Given the description of an element on the screen output the (x, y) to click on. 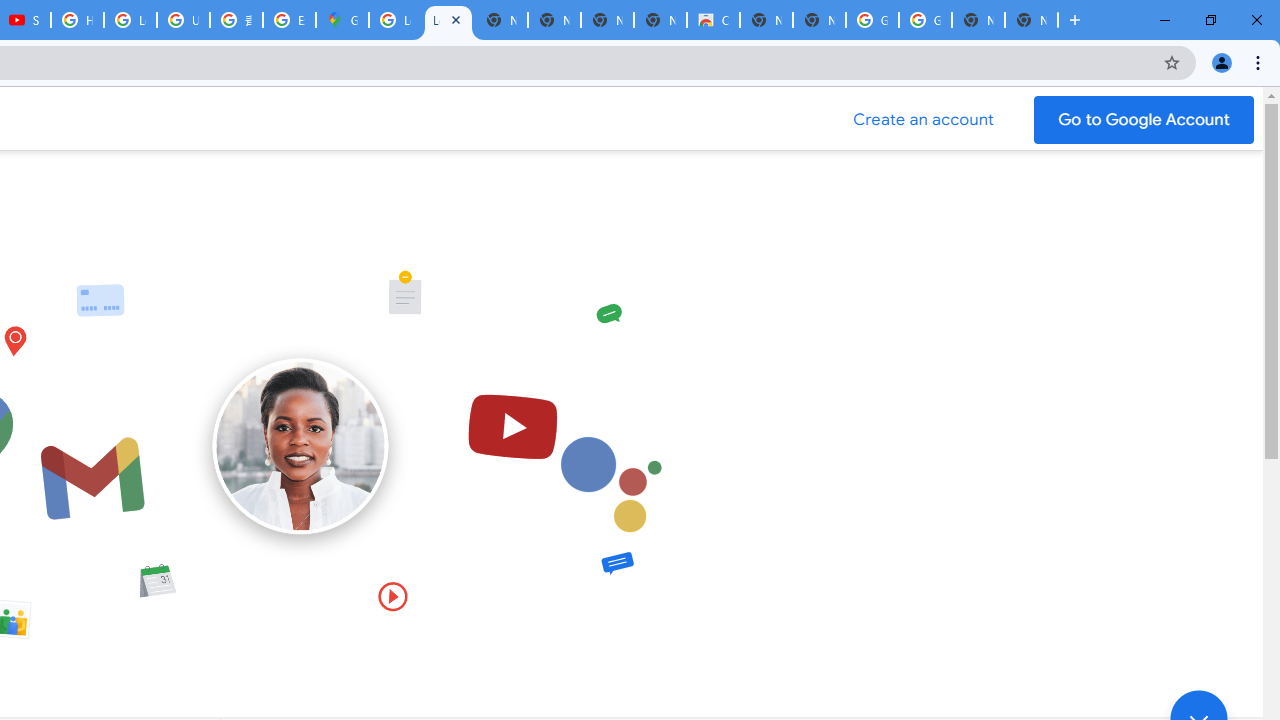
Google Images (925, 20)
Create a Google Account (923, 119)
Google Images (872, 20)
Go to your Google Account (1144, 119)
New Tab (1031, 20)
Google Maps (342, 20)
